Given the description of an element on the screen output the (x, y) to click on. 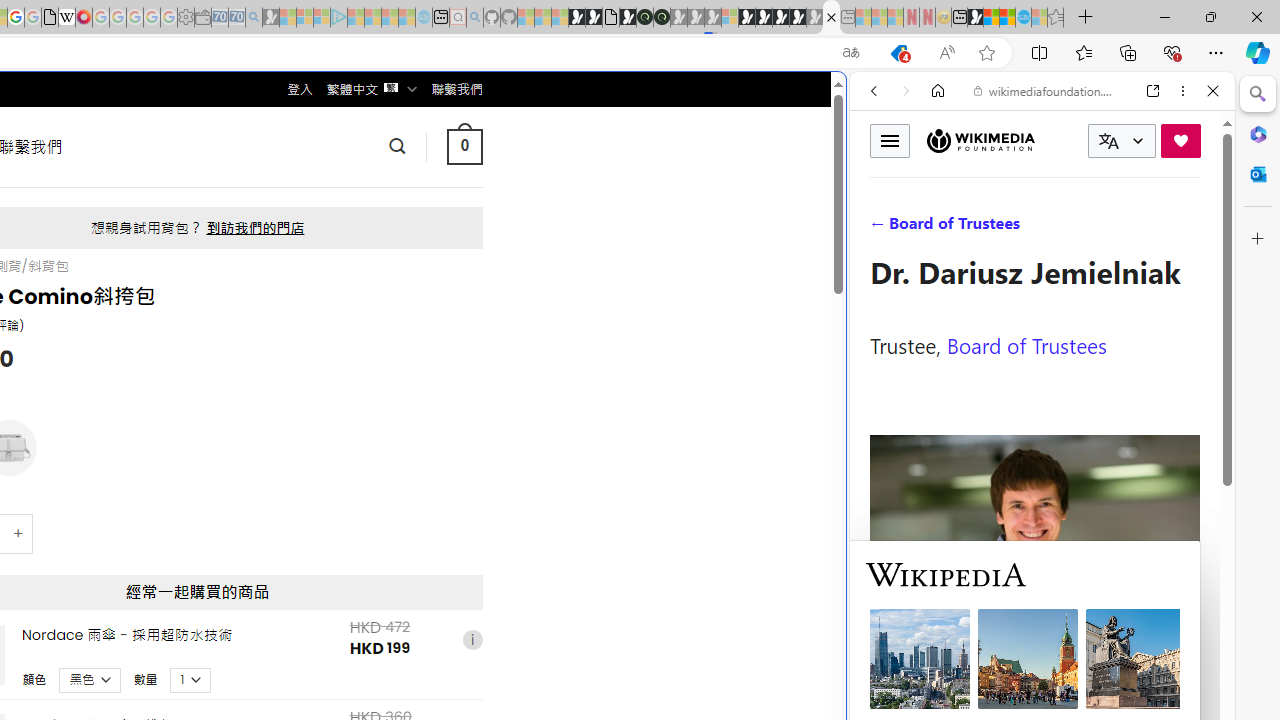
Services - Maintenance | Sky Blue Bikes - Sky Blue Bikes (1023, 17)
Future Focus Report 2024 (661, 17)
Frequently visited (418, 265)
